Given the description of an element on the screen output the (x, y) to click on. 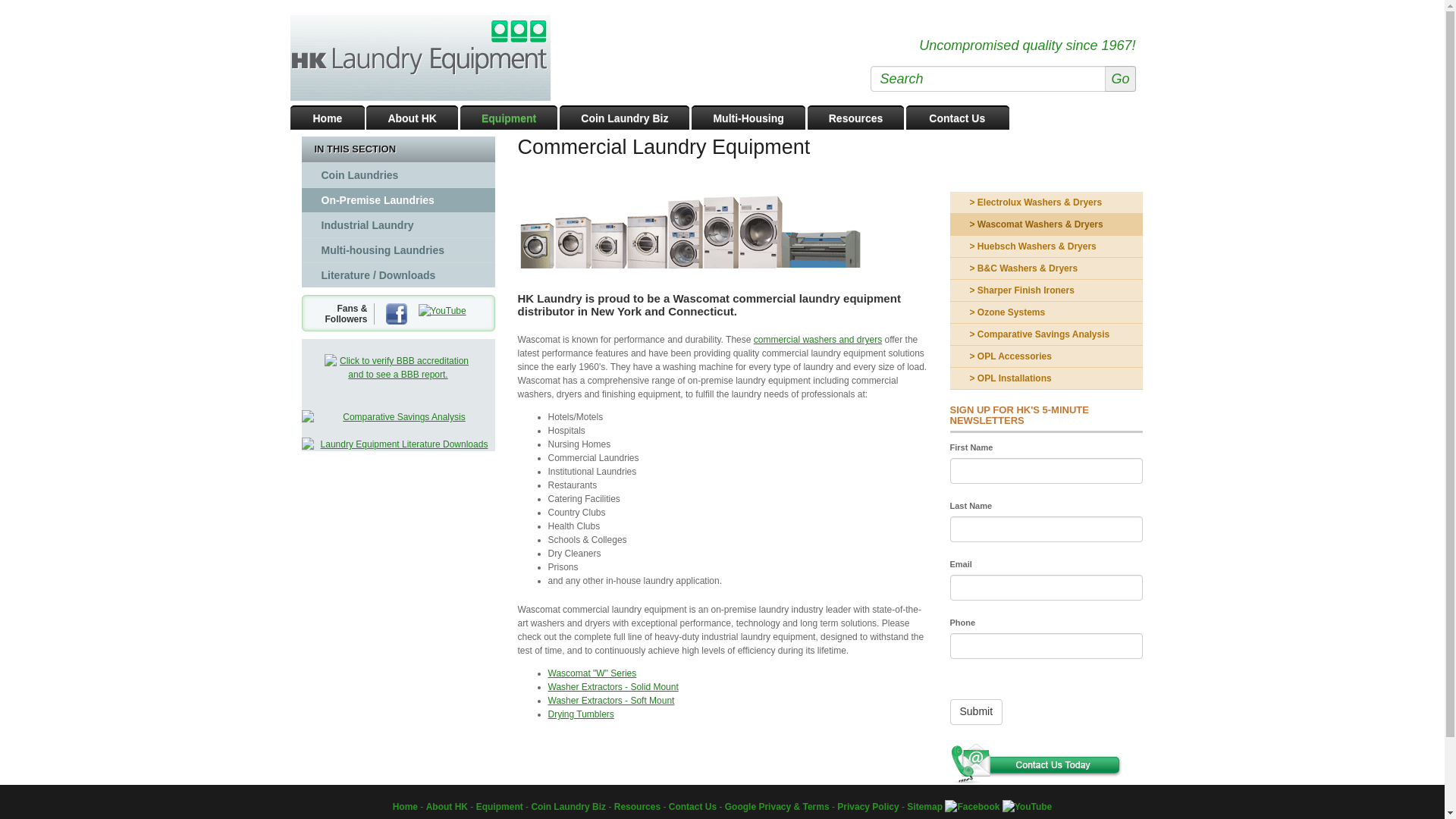
Resources (856, 117)
About HK Laundry Equipment (412, 117)
Go to the OPL Installations page (1045, 378)
Multi-Housing Laundry Equipment Solutions (748, 117)
Go to the Industrial Laundry Equipment in NY and CT page (398, 224)
About HK (412, 117)
Coin Laundry Biz (623, 117)
Go to the Laundry Ozone Systems page (1045, 312)
Go to the OPL Accessories page (1045, 356)
Washer Extractors - Soft Mount (610, 700)
